Given the description of an element on the screen output the (x, y) to click on. 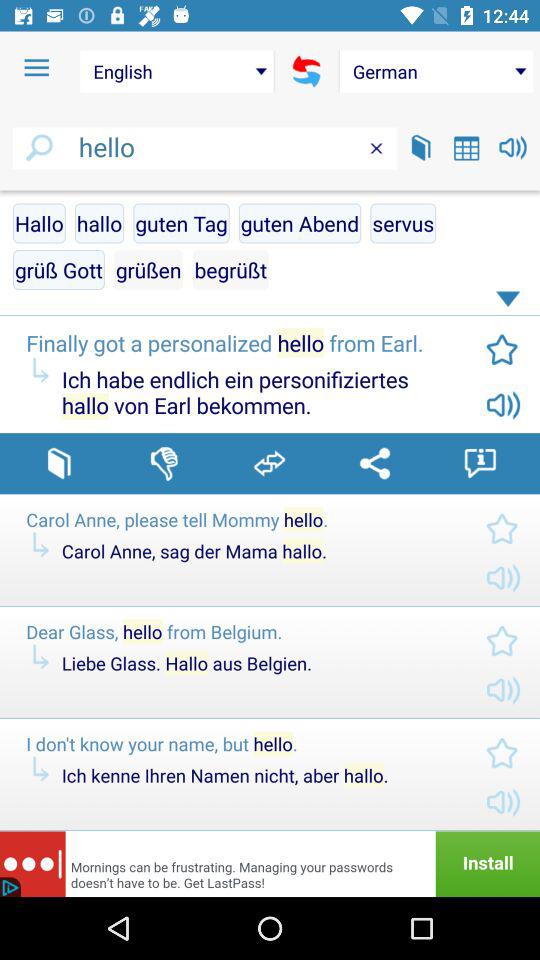
expand post (511, 303)
